Given the description of an element on the screen output the (x, y) to click on. 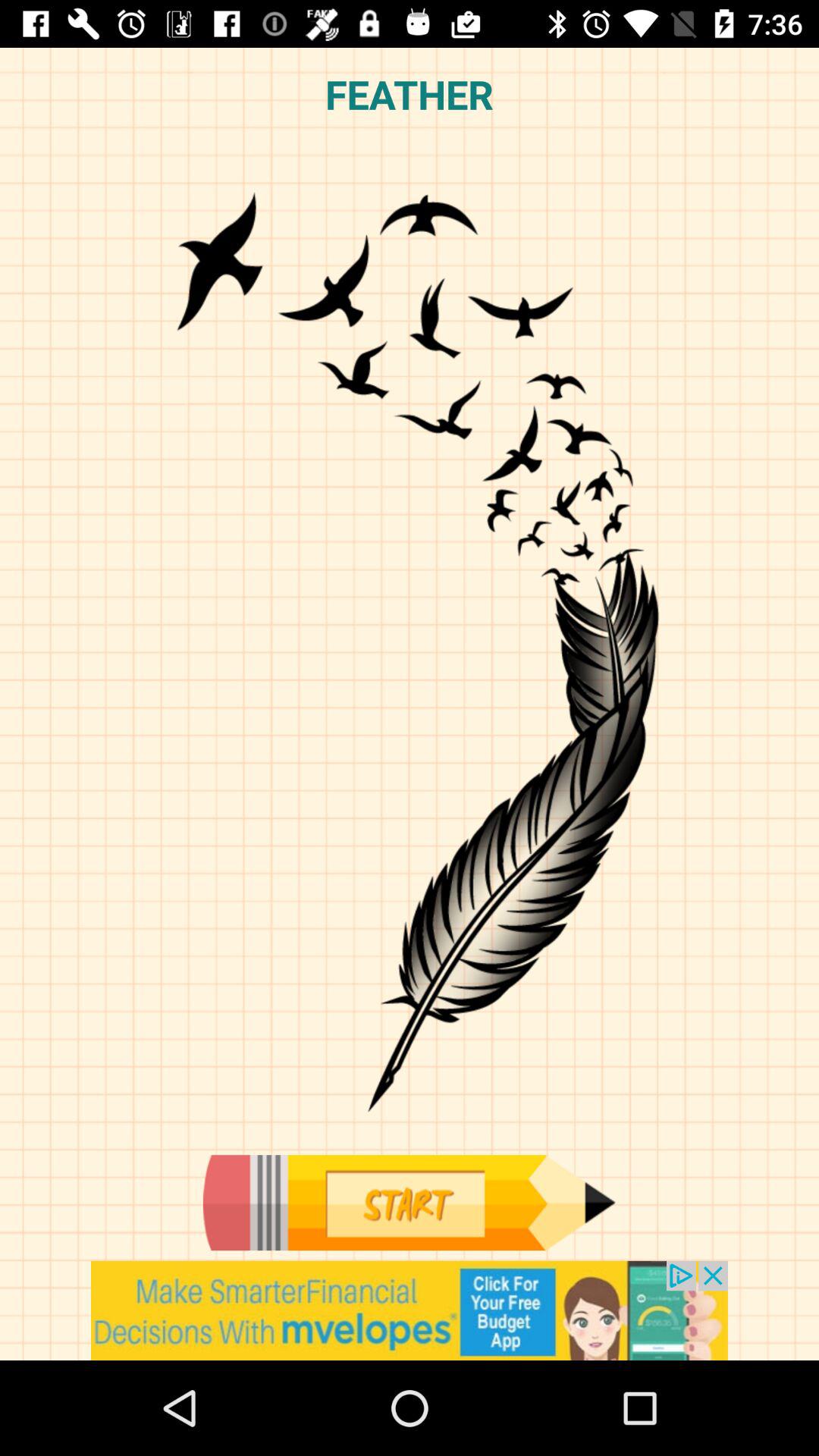
start the app (409, 1202)
